Given the description of an element on the screen output the (x, y) to click on. 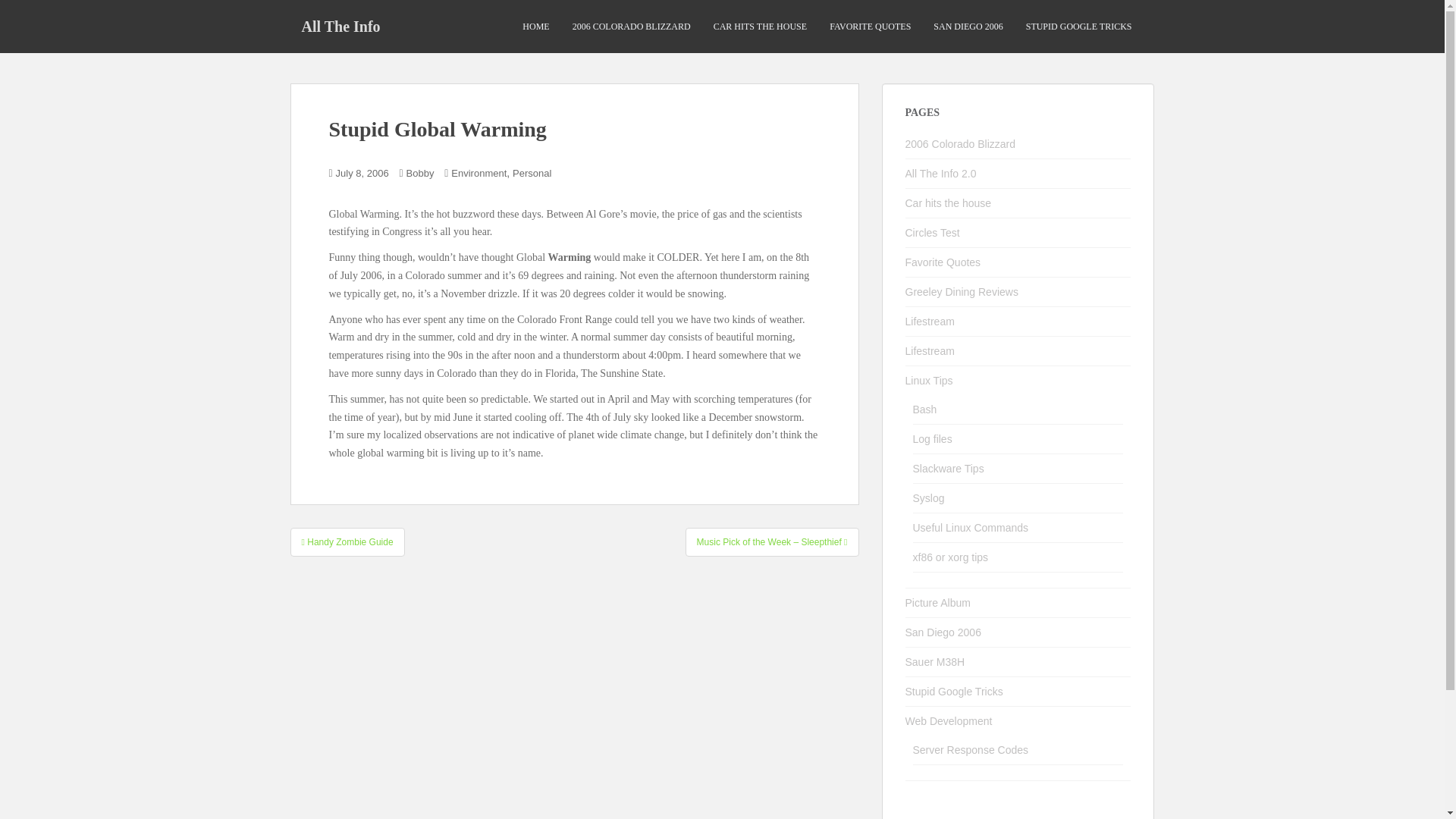
Useful Linux Commands (970, 527)
Circles Test (932, 232)
Web Development (948, 720)
2006 Colorado Blizzard (960, 143)
Syslog (928, 498)
STUPID GOOGLE TRICKS (1079, 26)
Log files (932, 439)
Environment (478, 173)
All The Info (340, 26)
Handy Zombie Guide (346, 541)
SAN DIEGO 2006 (968, 26)
Bash (924, 409)
Stupid Google Tricks (954, 691)
All The Info 2.0 (940, 173)
FAVORITE QUOTES (870, 26)
